Given the description of an element on the screen output the (x, y) to click on. 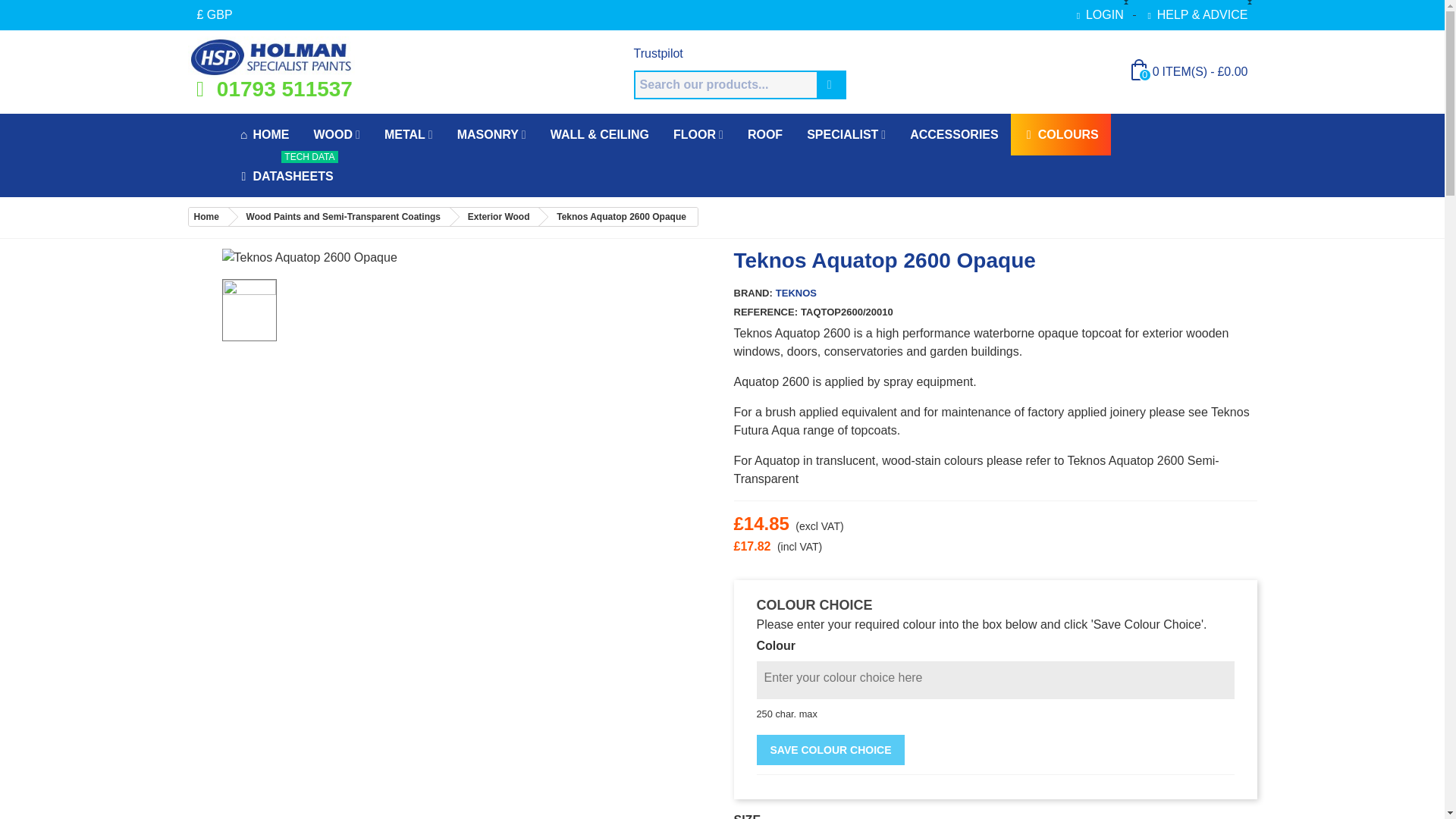
Trustpilot (657, 52)
LOGIN (1098, 15)
WOOD (336, 134)
Holman Specialist Paints (271, 56)
MASONRY (491, 134)
HOME (263, 134)
FLOOR (698, 134)
METAL (408, 134)
Log in to your customer account (1098, 15)
